Given the description of an element on the screen output the (x, y) to click on. 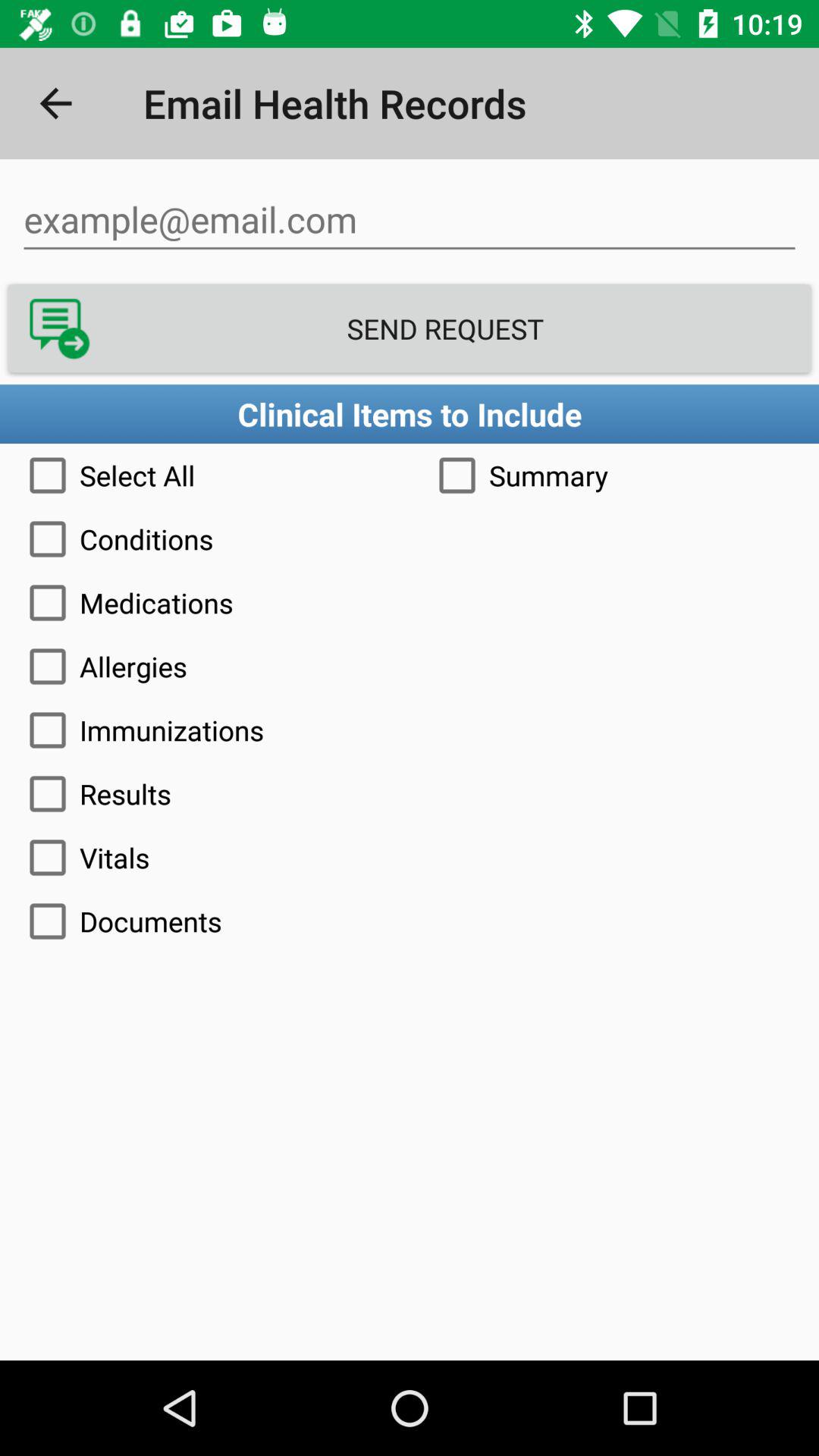
choose the icon below allergies item (409, 730)
